Given the description of an element on the screen output the (x, y) to click on. 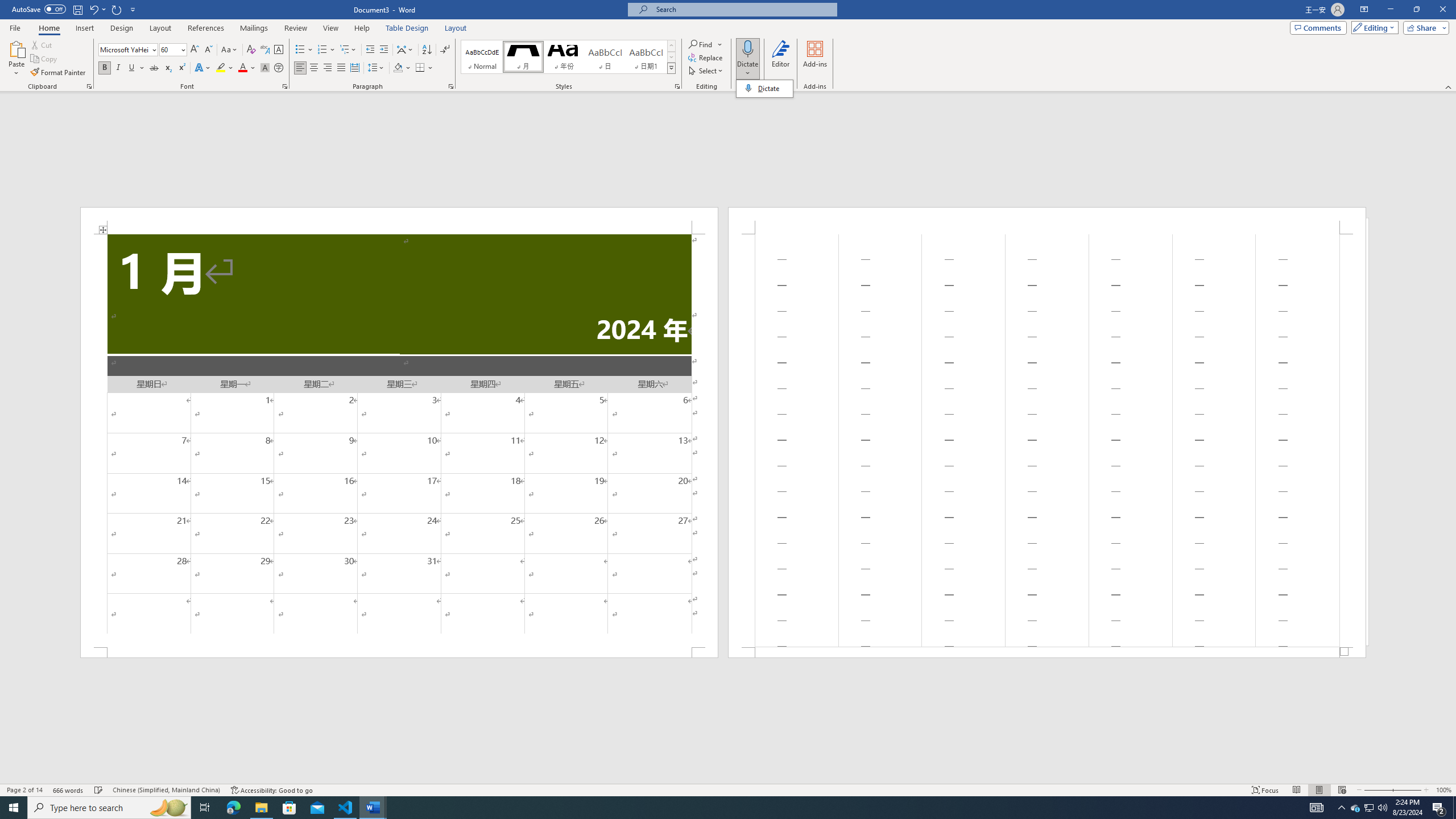
Sort... (426, 49)
Restore Down (1416, 9)
Read Mode (1296, 790)
Asian Layout (405, 49)
Line and Paragraph Spacing (376, 67)
Multilevel List (347, 49)
Bullets (304, 49)
Superscript (180, 67)
Search highlights icon opens search home window (167, 807)
Microsoft search (742, 9)
Numbering (326, 49)
Save (77, 9)
Show desktop (1454, 807)
Align Right (327, 67)
Find (700, 44)
